Given the description of an element on the screen output the (x, y) to click on. 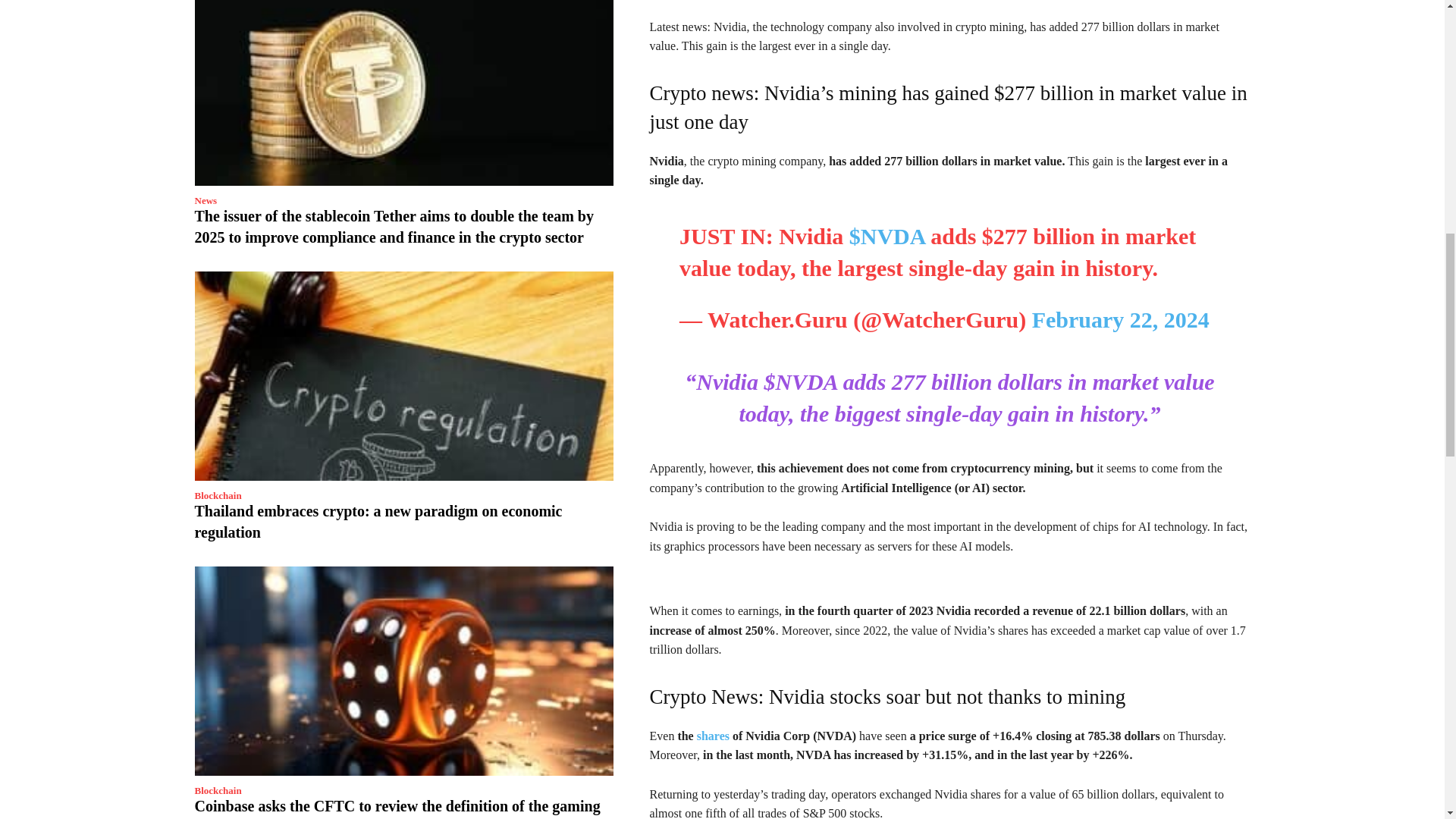
News (204, 200)
Blockchain (217, 495)
